Given the description of an element on the screen output the (x, y) to click on. 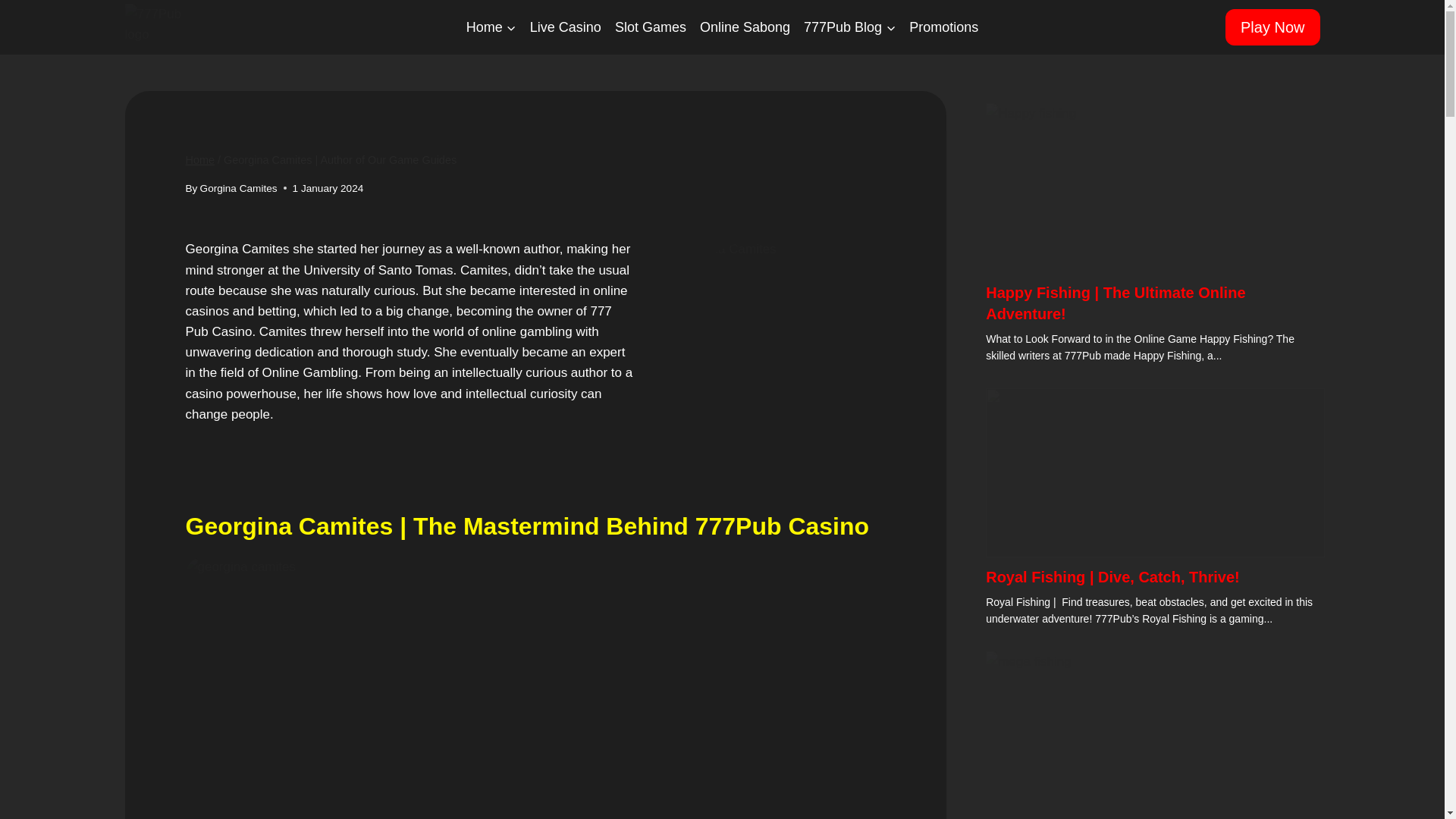
Gorgina Camites (239, 188)
Slot Games (650, 27)
Home (199, 159)
Online Sabong (744, 27)
Live Casino (565, 27)
Promotions (943, 27)
777Pub Blog (849, 27)
Home (491, 27)
Play Now (1272, 27)
